Given the description of an element on the screen output the (x, y) to click on. 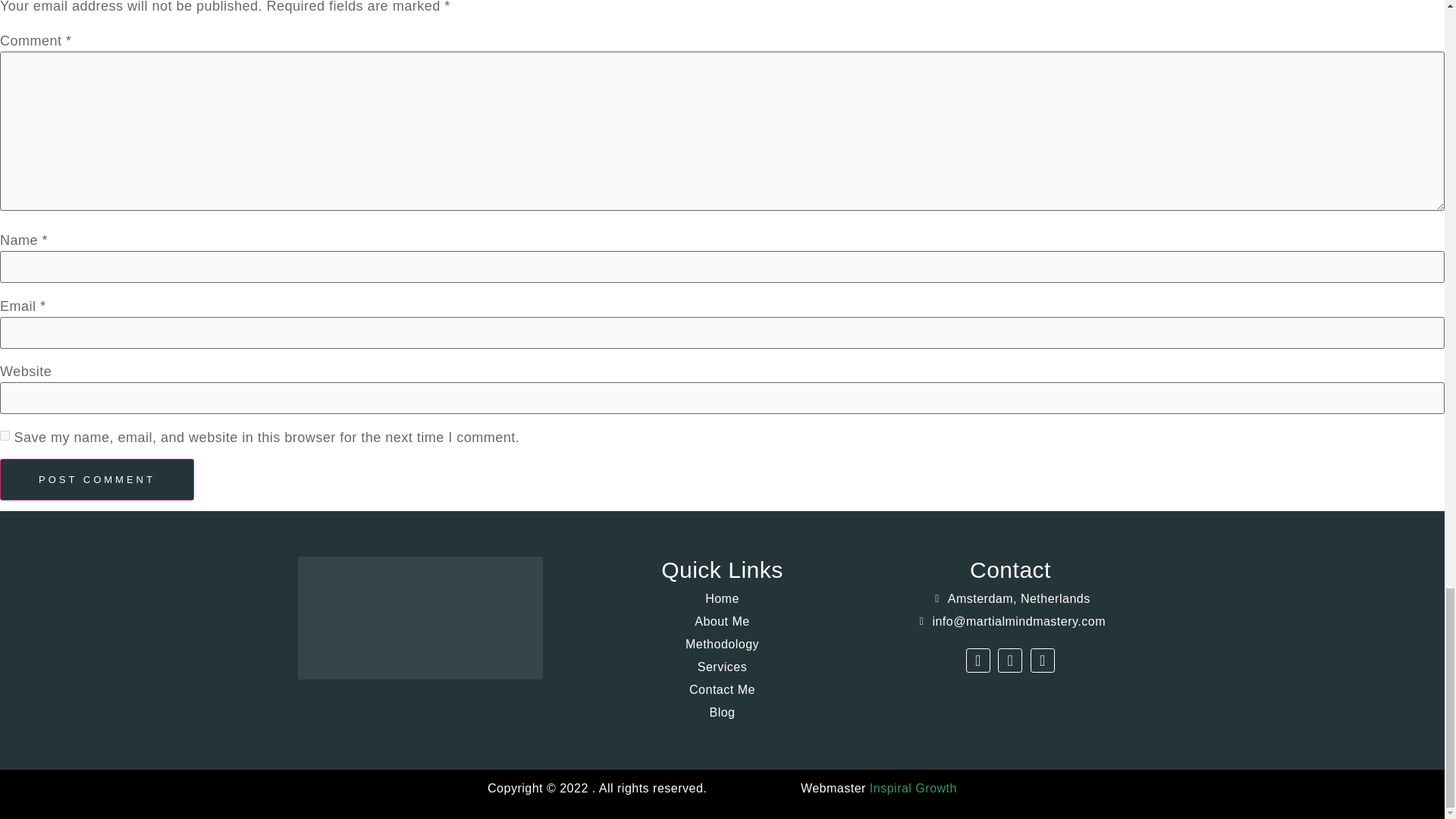
Amsterdam, Netherlands (1009, 599)
Post Comment (96, 479)
Inspiral Growth (912, 788)
About Me (721, 621)
Services (721, 667)
Methodology (721, 644)
Blog (722, 712)
Home (721, 599)
Post Comment (96, 479)
yes (5, 435)
